Given the description of an element on the screen output the (x, y) to click on. 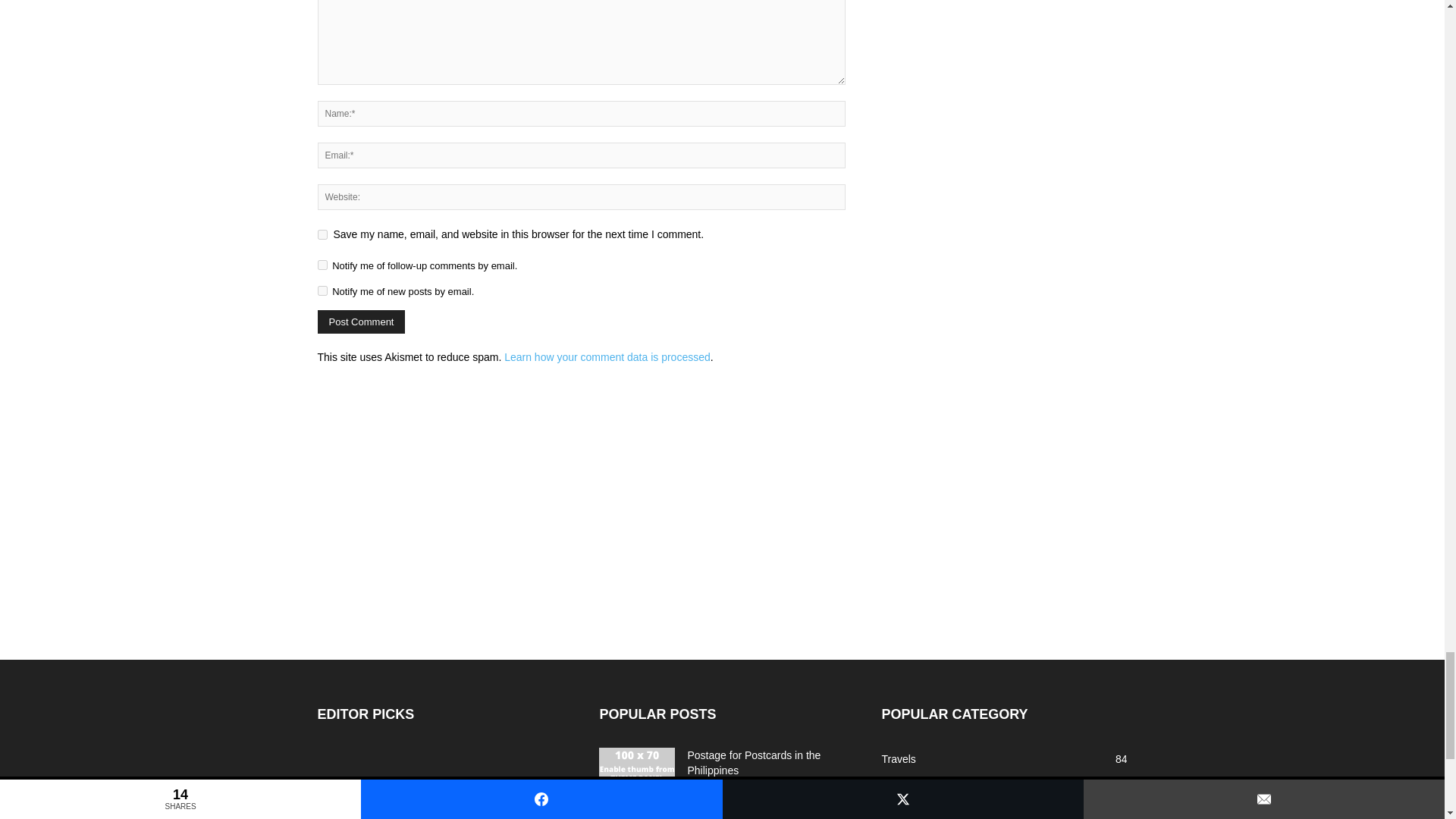
subscribe (321, 290)
yes (321, 234)
Post Comment (360, 321)
subscribe (321, 265)
